Given the description of an element on the screen output the (x, y) to click on. 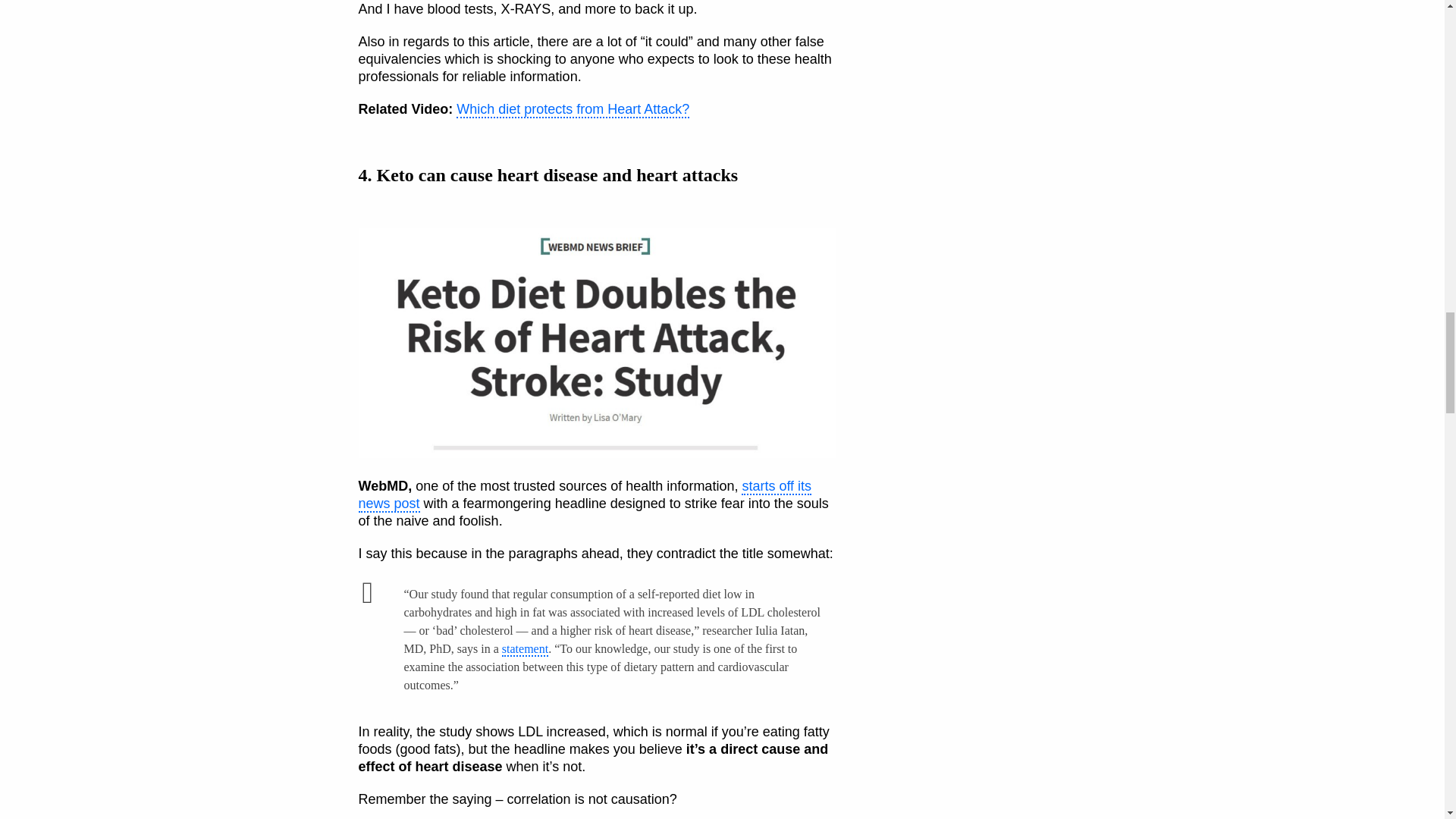
Which diet protects from Heart Attack? (572, 109)
statement (525, 649)
starts off its news post (584, 495)
